Given the description of an element on the screen output the (x, y) to click on. 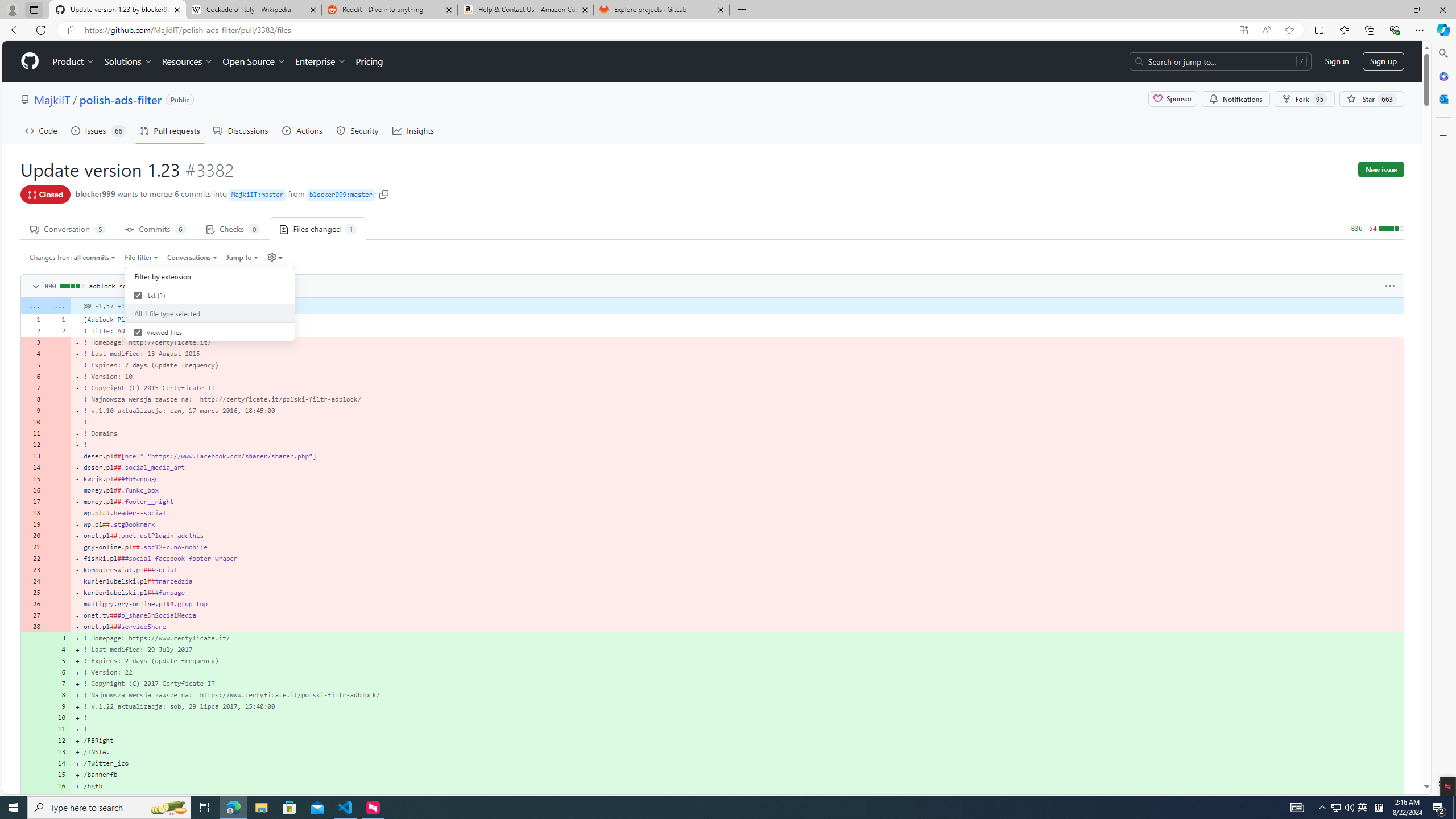
You must be signed in to star a repository (1371, 98)
Toggle diff contents (34, 286)
Jump to (241, 257)
 Commits 6 (155, 228)
 Checks 0 (232, 228)
Sponsor MajkiIT/polish-ads-filter (1171, 98)
File filter (141, 257)
4 (58, 649)
3 (58, 637)
- onet.tv###o_shareOnSocialMedia (737, 614)
2 (58, 330)
Diff settings (274, 257)
Viewed files (210, 331)
... (58, 305)
